Given the description of an element on the screen output the (x, y) to click on. 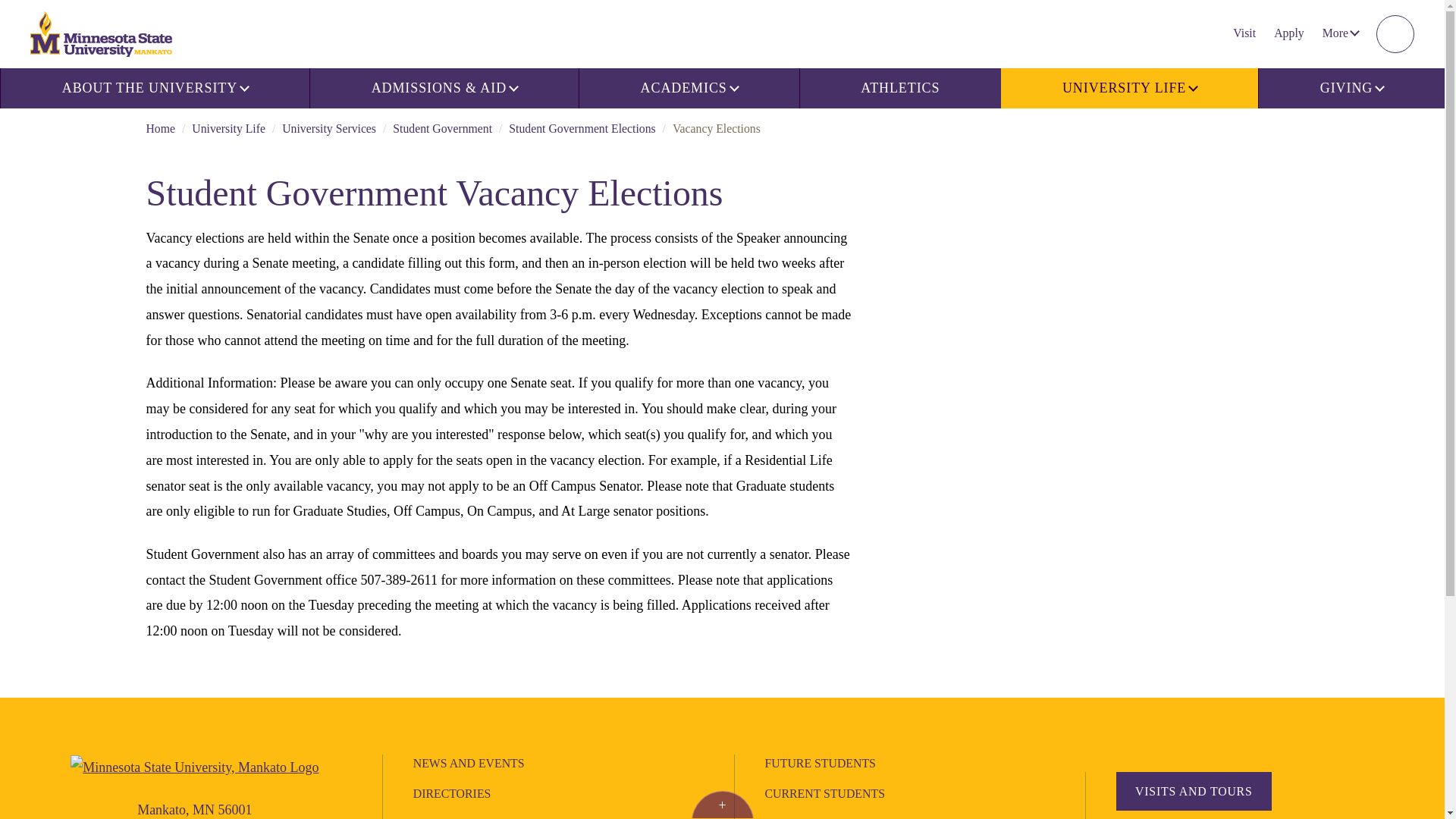
Visit (1244, 33)
ABOUT THE UNIVERSITY (154, 87)
Apply (1289, 33)
More (1340, 33)
Visit Campus (1193, 791)
Minnesota State University, Mankato (193, 766)
ACADEMICS (688, 87)
SEARCH (1394, 34)
